Given the description of an element on the screen output the (x, y) to click on. 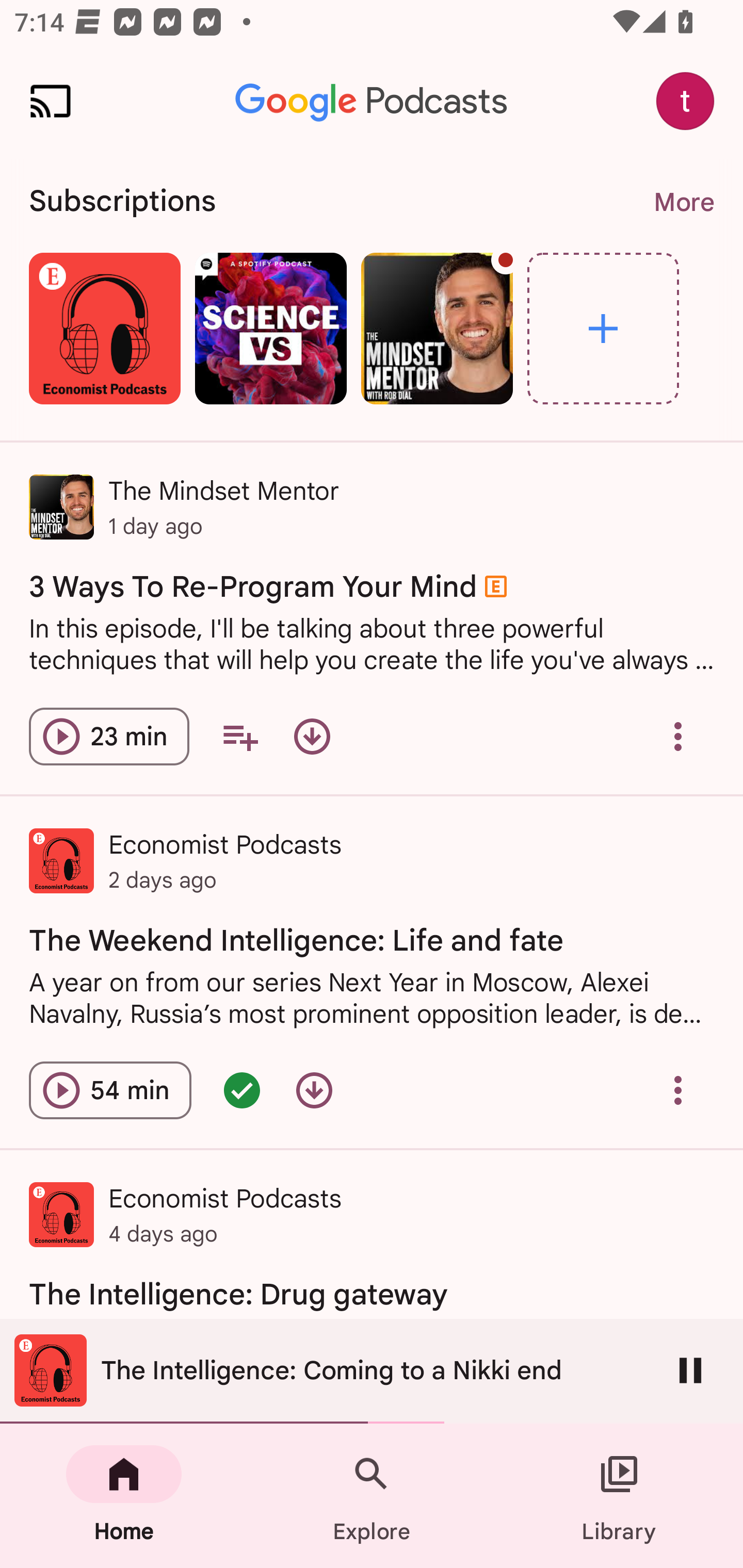
Cast. Disconnected (50, 101)
More More. Navigate to subscriptions page. (683, 202)
Economist Podcasts (104, 328)
Science Vs (270, 328)
The Mindset Mentor (436, 328)
Explore (603, 328)
Play episode 3 Ways To Re-Program Your Mind 23 min (108, 736)
Add to your queue (239, 736)
Download episode (312, 736)
Overflow menu (677, 736)
Episode queued - double tap for options (241, 1090)
Download episode (313, 1090)
Overflow menu (677, 1090)
Pause (690, 1370)
Explore (371, 1495)
Library (619, 1495)
